Given the description of an element on the screen output the (x, y) to click on. 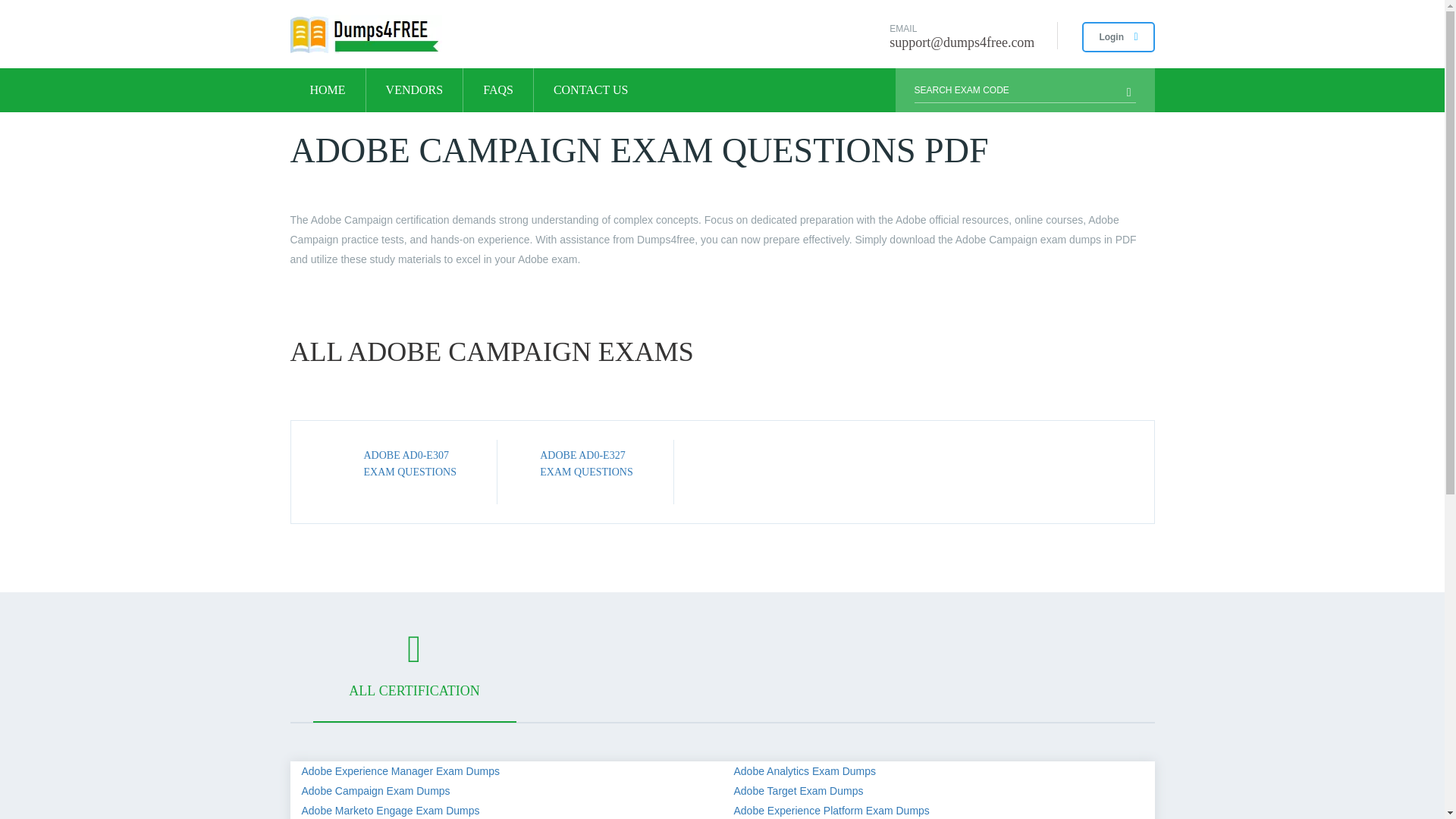
CONTACT US (590, 89)
Login (1117, 37)
ADOBE AD0-E327 EXAM QUESTIONS (586, 463)
VENDORS (414, 89)
Adobe Campaign Exam Dumps (375, 790)
Adobe Analytics Exam Dumps (804, 770)
Adobe Experience Manager Exam Dumps (400, 770)
Adobe Experience Platform Exam Dumps (831, 810)
Adobe Marketo Engage Exam Dumps (390, 810)
FAQS (497, 89)
ADOBE AD0-E307 EXAM QUESTIONS (410, 463)
Adobe Target Exam Dumps (798, 790)
HOME (327, 89)
ALL CERTIFICATION (414, 675)
